Given the description of an element on the screen output the (x, y) to click on. 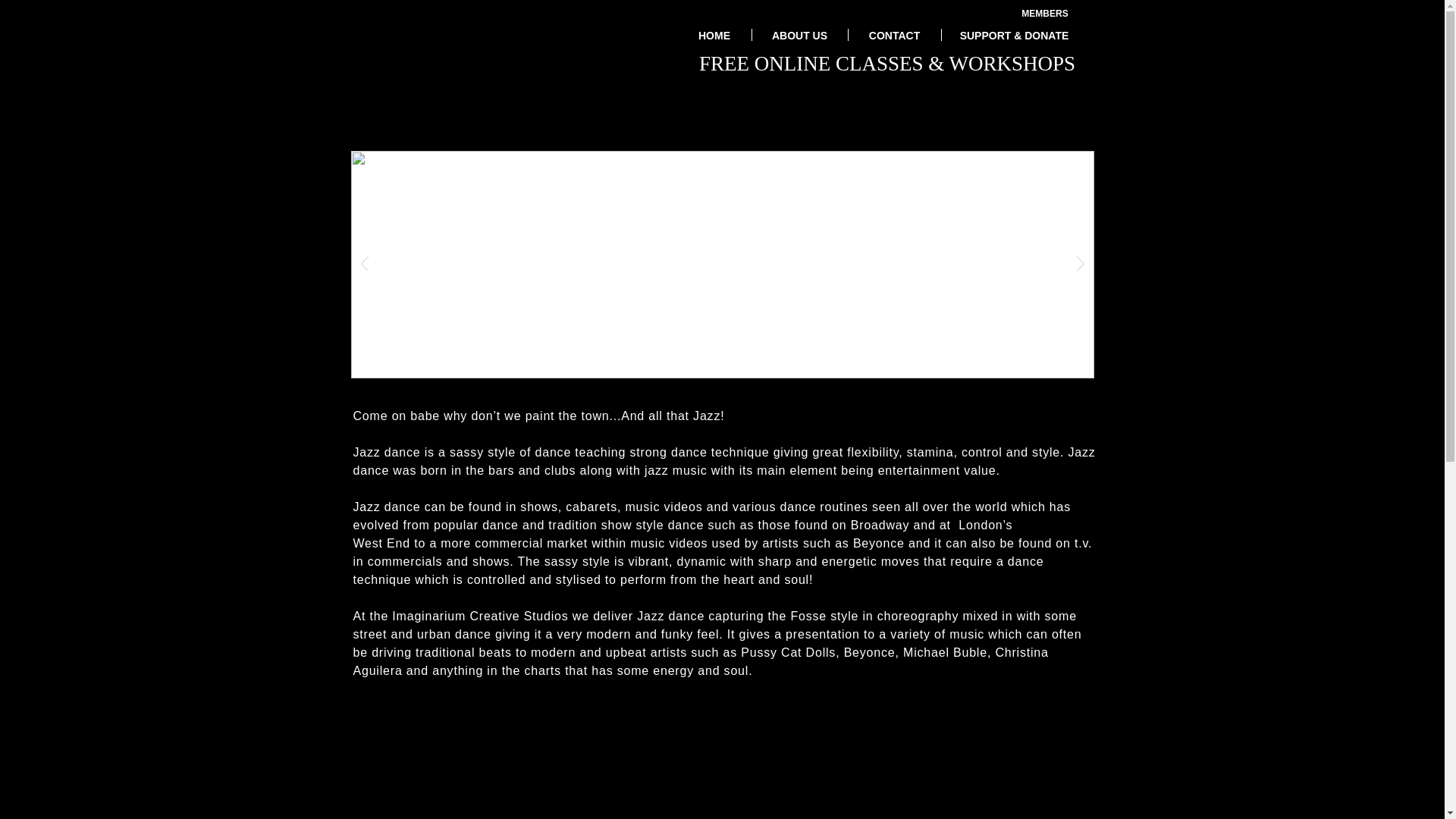
ABOUT US (799, 34)
HOME (714, 34)
MEMBERS (1044, 13)
CONTACT (893, 34)
